Given the description of an element on the screen output the (x, y) to click on. 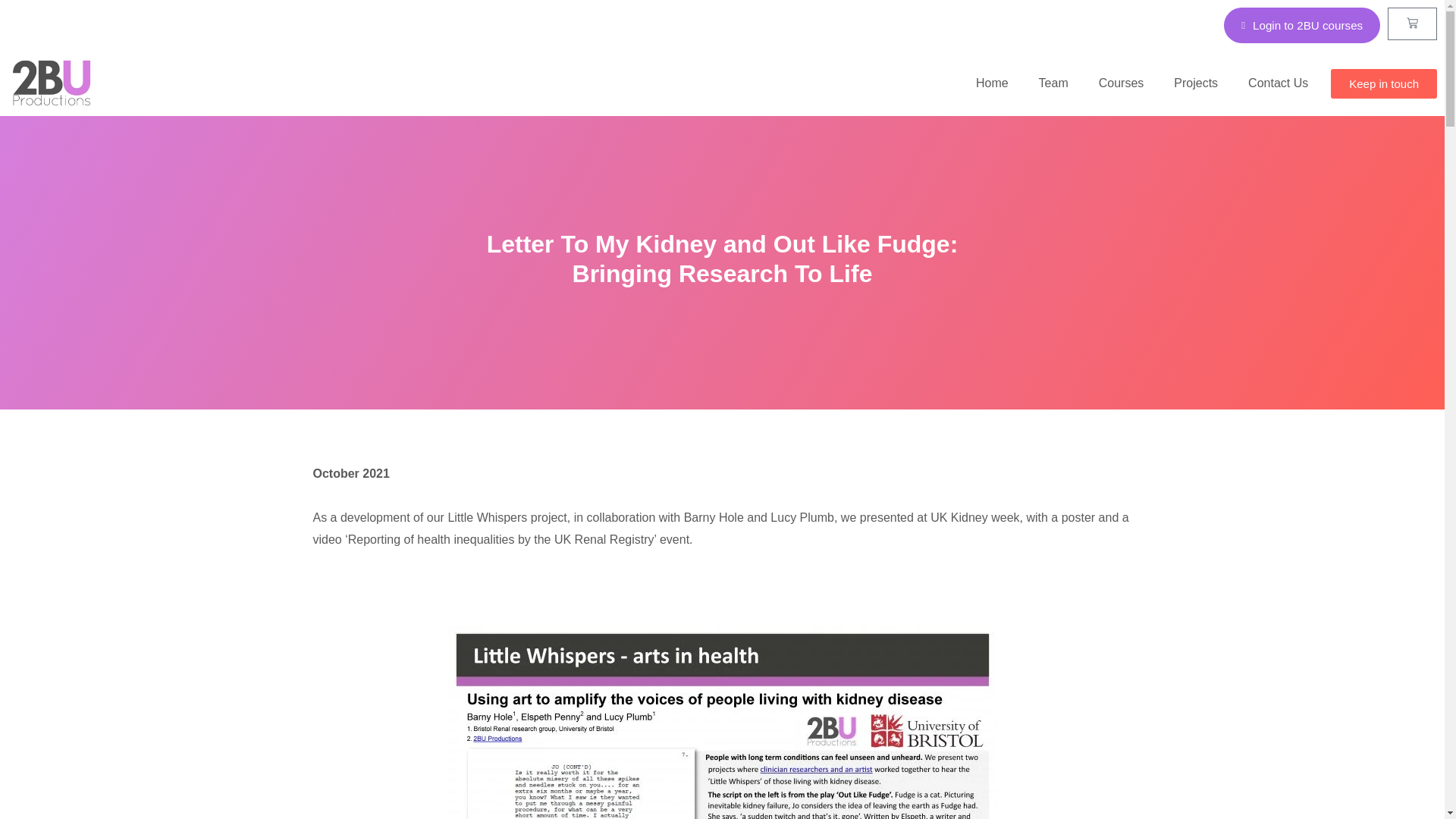
Basket (1412, 23)
Contact Us (1278, 83)
Courses (1120, 83)
Login to 2BU courses (1302, 25)
Projects (1195, 83)
Home (991, 83)
Team (1053, 83)
Keep in touch (1383, 83)
